Given the description of an element on the screen output the (x, y) to click on. 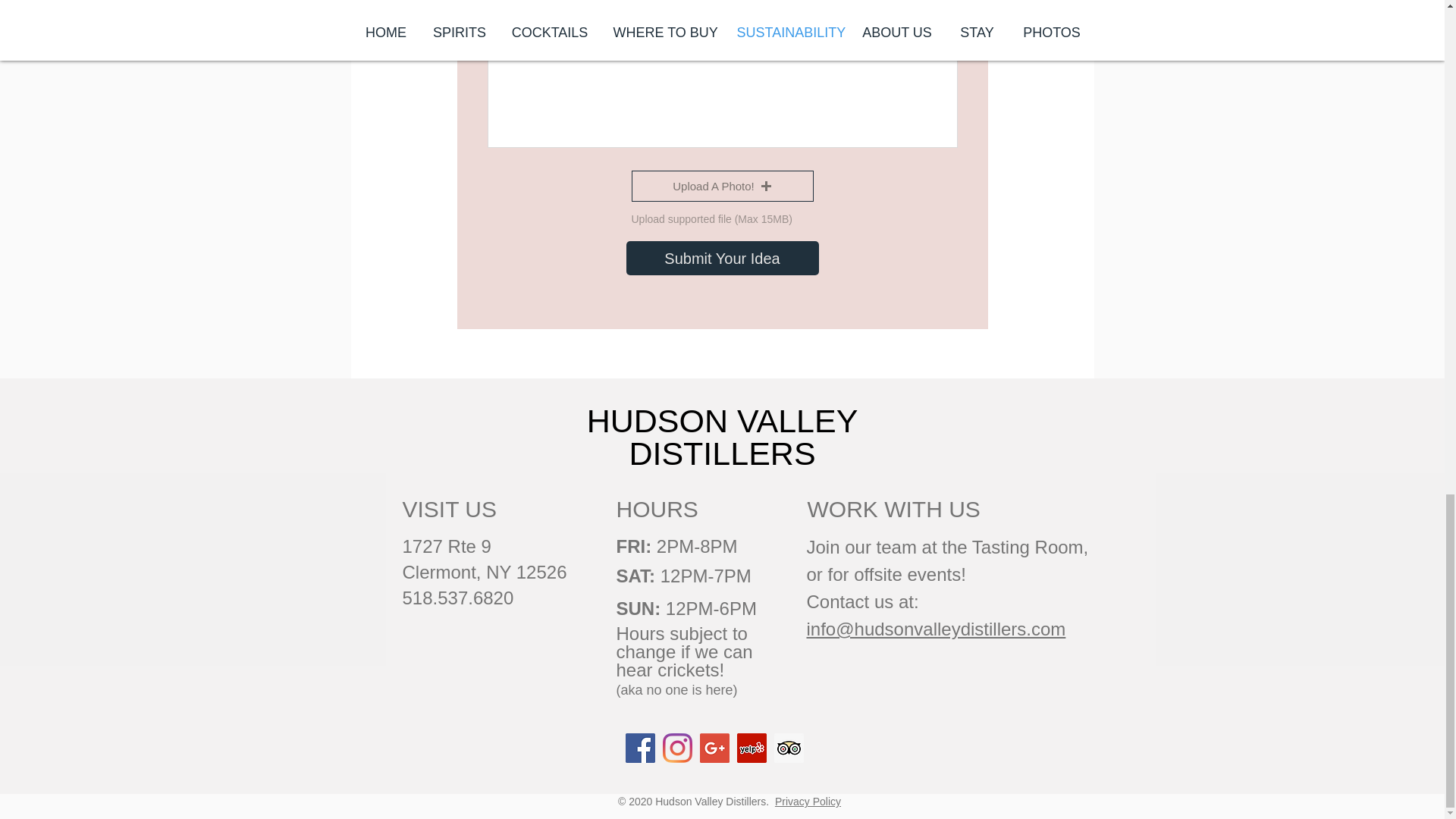
Privacy Policy (807, 801)
HUDSON VALLEY DISTILLERS (722, 436)
Submit Your Idea (722, 257)
